Given the description of an element on the screen output the (x, y) to click on. 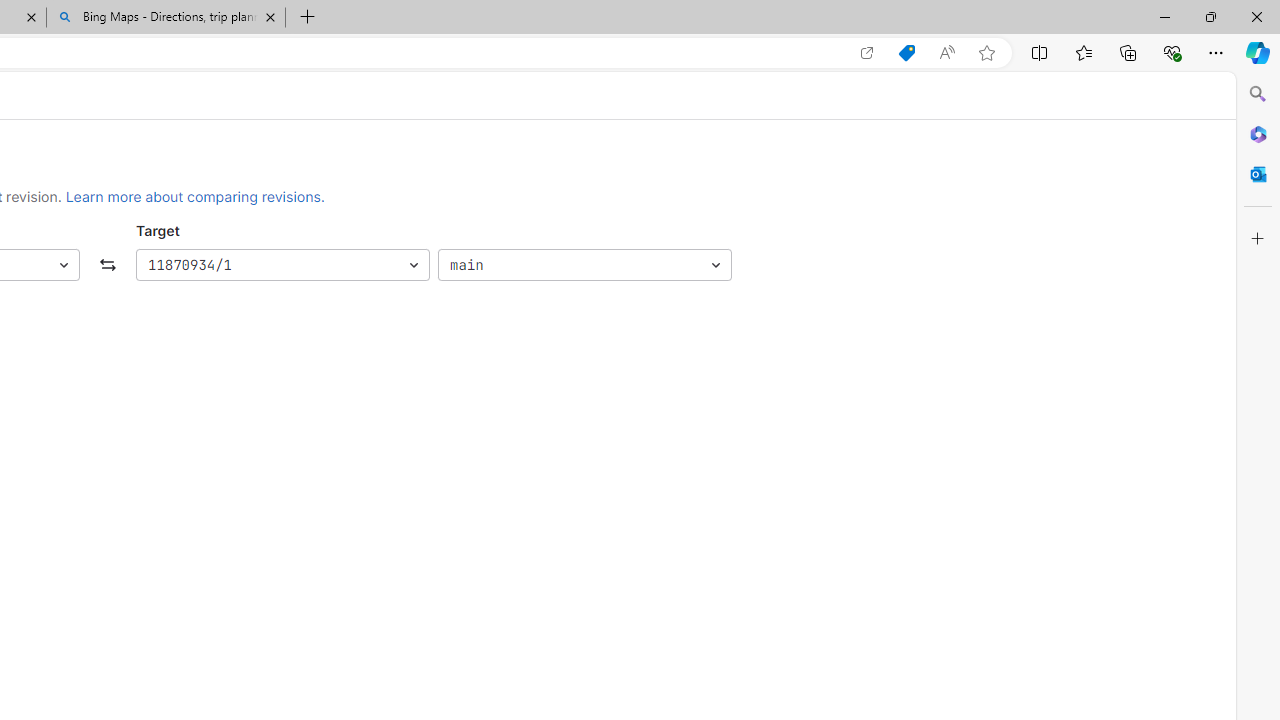
main (584, 265)
Swap (108, 265)
